Given the description of an element on the screen output the (x, y) to click on. 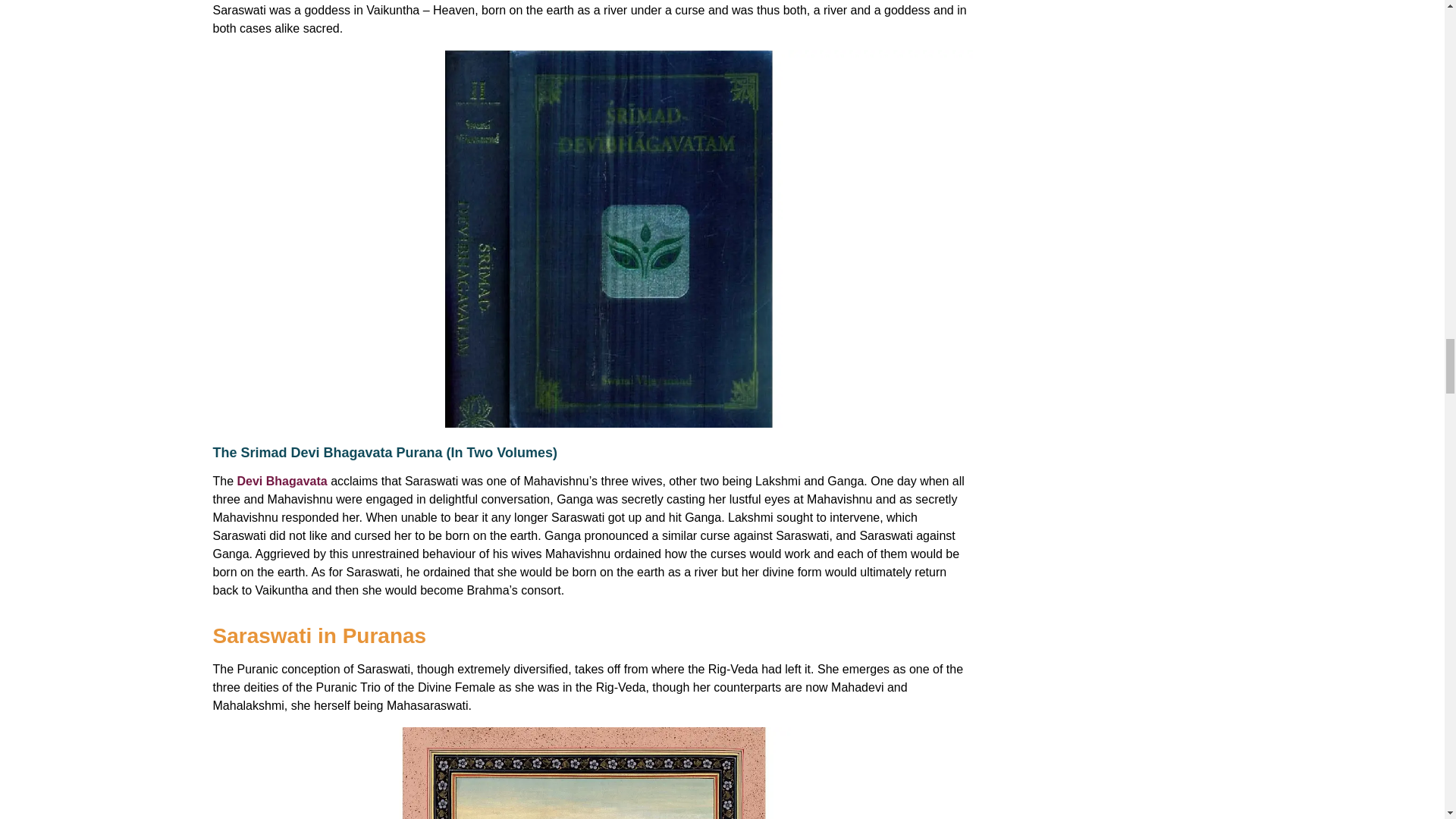
Devi Bhagavat (278, 481)
